Given the description of an element on the screen output the (x, y) to click on. 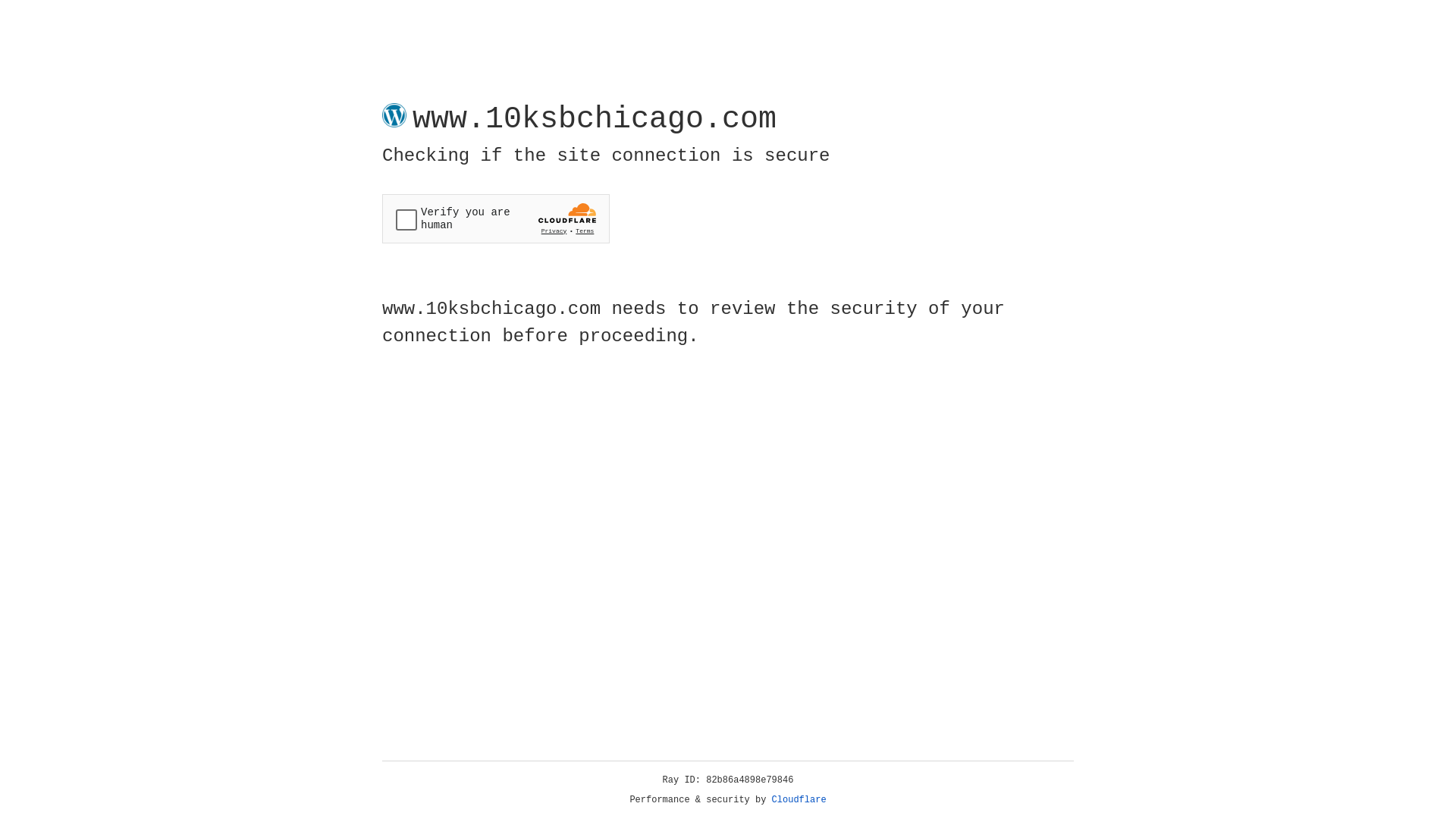
Cloudflare Element type: text (798, 799)
Widget containing a Cloudflare security challenge Element type: hover (495, 218)
